Given the description of an element on the screen output the (x, y) to click on. 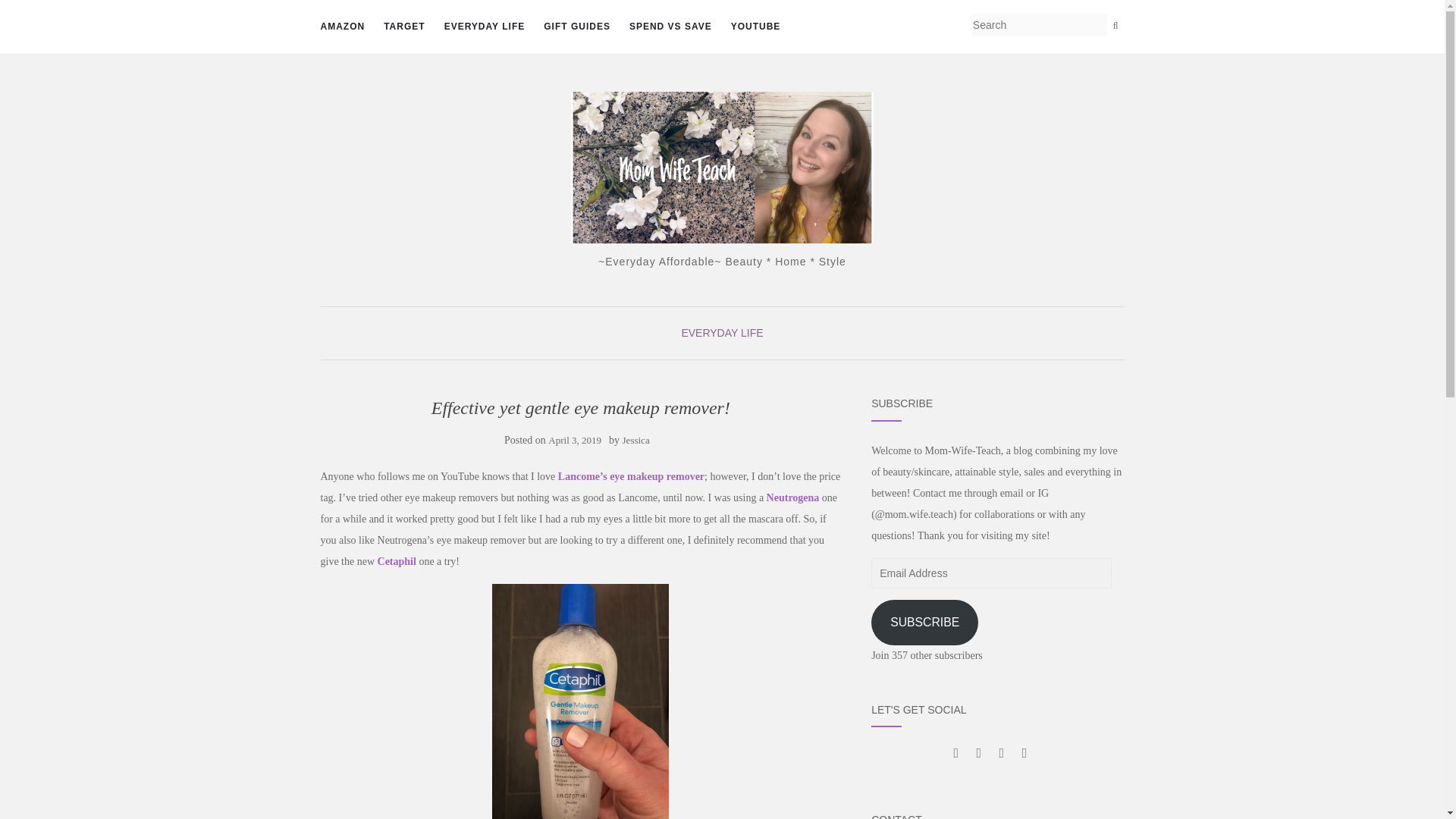
GIFT GUIDES (576, 27)
YOUTUBE (755, 27)
Spend vs Save (669, 27)
Everyday Life (484, 27)
Cetaphil (396, 561)
April 3, 2019 (574, 439)
SPEND VS SAVE (669, 27)
EVERYDAY LIFE (484, 27)
EVERYDAY LIFE (721, 332)
YouTube (755, 27)
Gift Guides (576, 27)
Neutrogena (793, 497)
Jessica (636, 439)
